Given the description of an element on the screen output the (x, y) to click on. 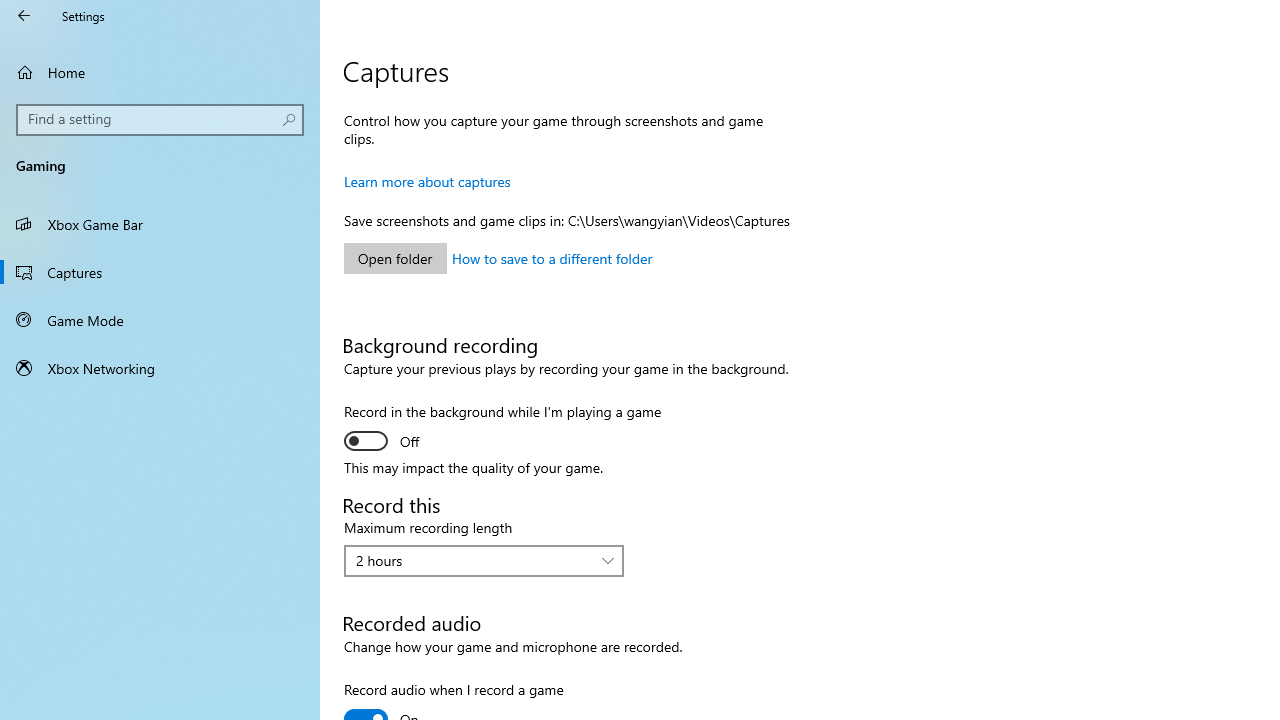
Xbox Game Bar (160, 223)
Learn more about captures (427, 181)
Xbox Networking (160, 367)
Game Mode (160, 319)
2 hours (473, 560)
Record in the background while I'm playing a game (502, 429)
Captures (160, 271)
Open folder (395, 258)
How to save to a different folder (551, 258)
Maximum recording length (484, 560)
